Given the description of an element on the screen output the (x, y) to click on. 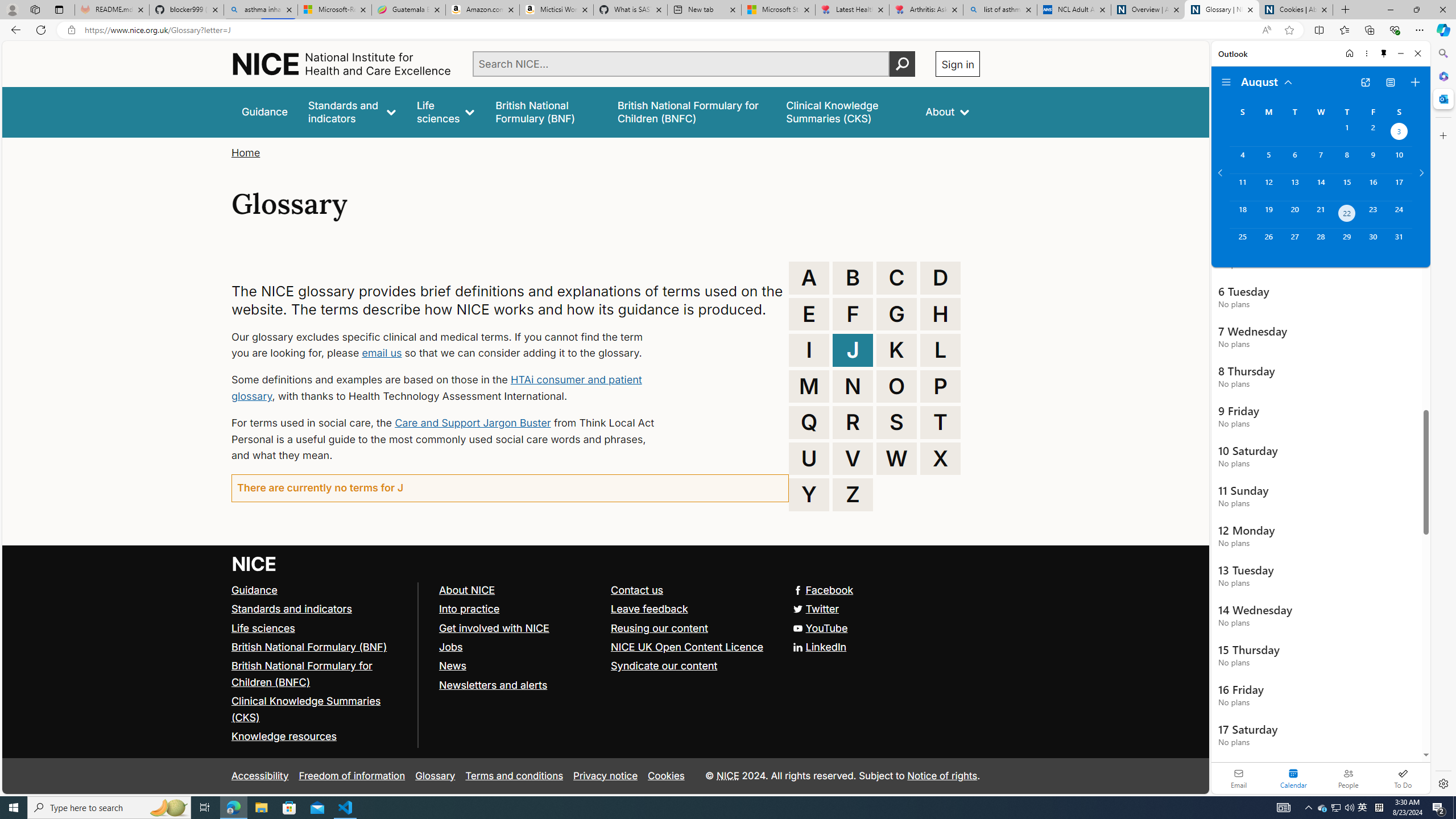
Terms and conditions (514, 775)
Create event (1414, 82)
D (940, 277)
Friday, August 2, 2024.  (1372, 132)
Glossary (434, 775)
HTAi consumer and patient glossary (436, 387)
Contact us (692, 589)
Selected calendar module. Date today is 22 (1293, 777)
NICE UK Open Content Licence (692, 647)
H (940, 313)
C (896, 277)
